Given the description of an element on the screen output the (x, y) to click on. 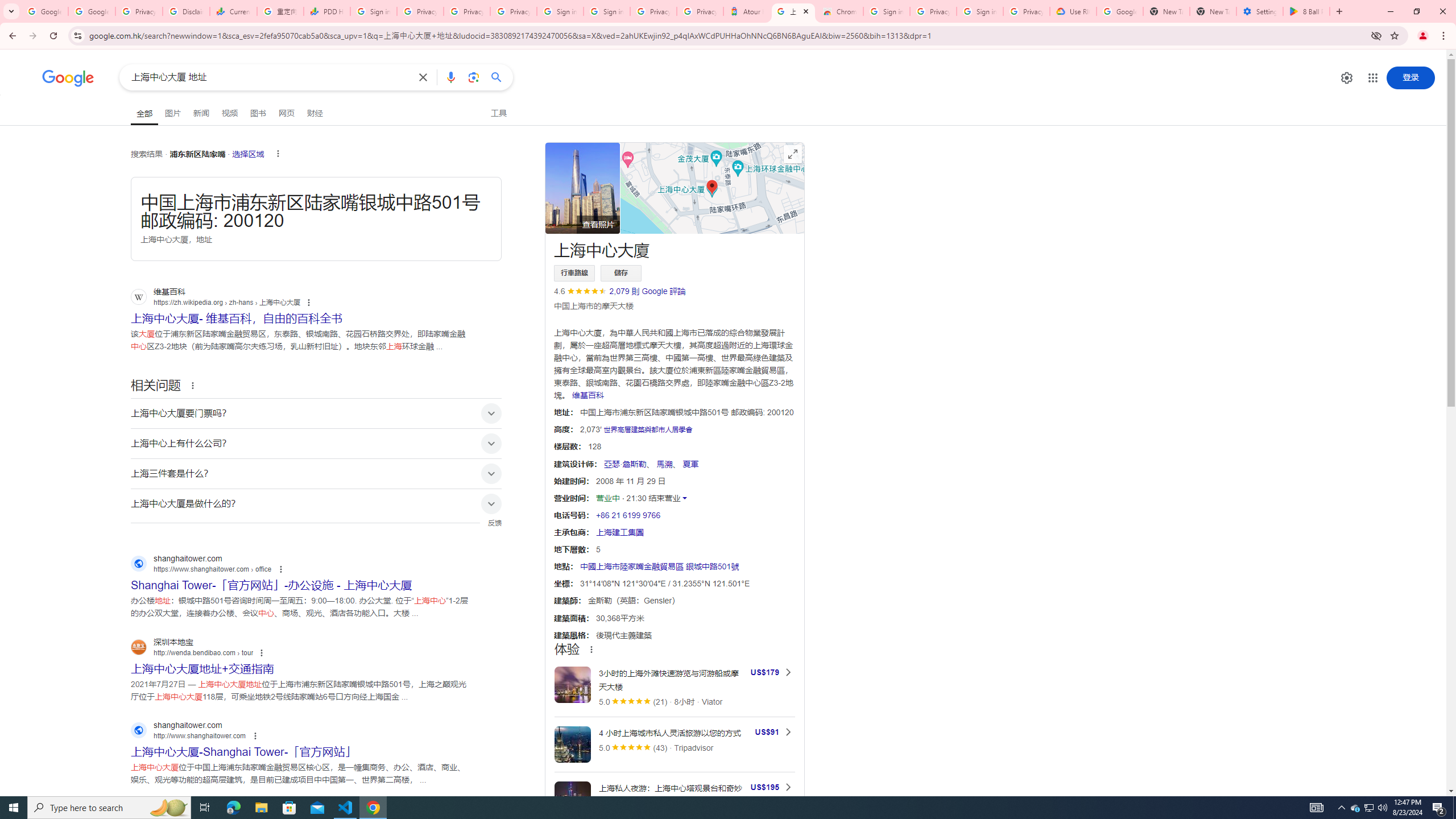
Atour Hotel - Google hotels (745, 11)
Chrome Web Store - Color themes by Chrome (838, 11)
